Given the description of an element on the screen output the (x, y) to click on. 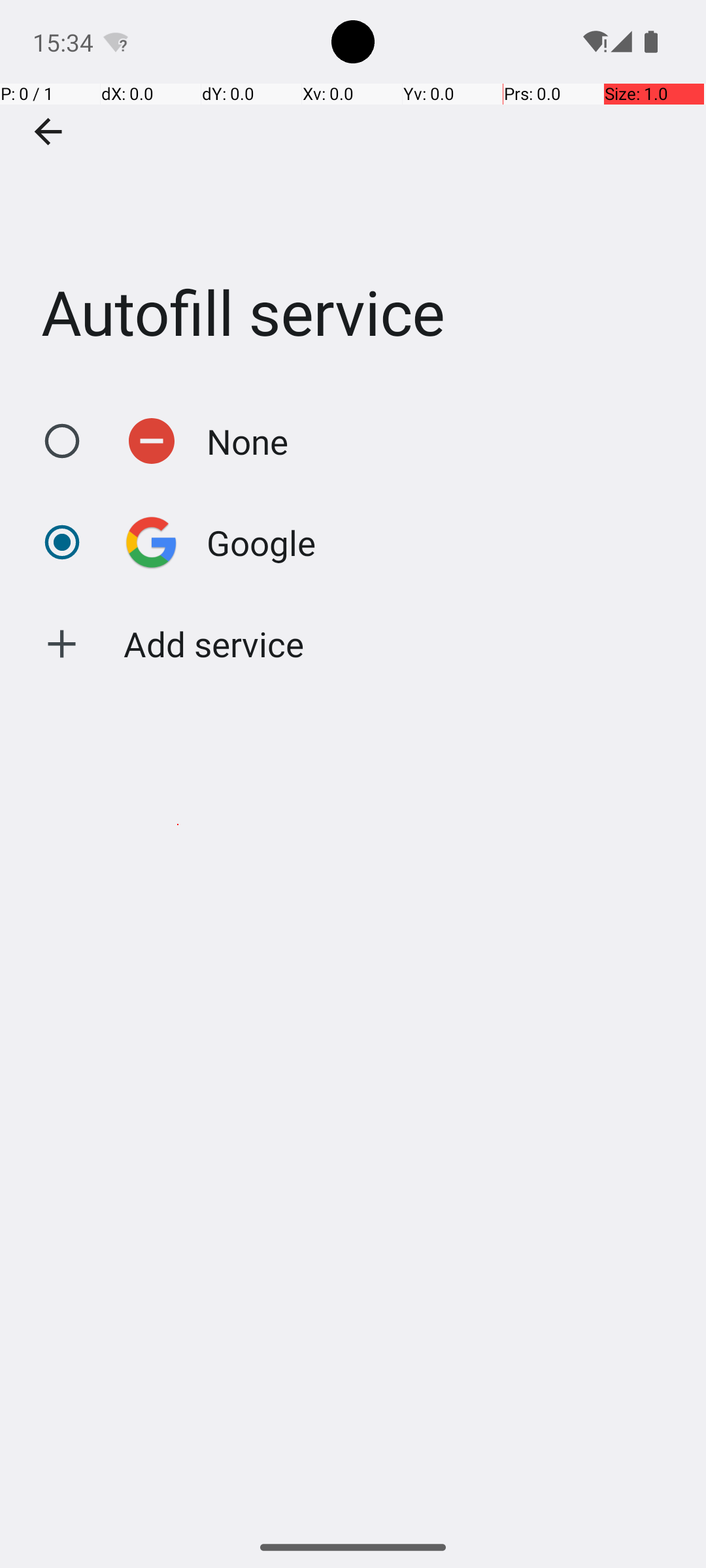
Autofill service Element type: android.widget.FrameLayout (353, 195)
Add service Element type: android.widget.TextView (213, 643)
